Given the description of an element on the screen output the (x, y) to click on. 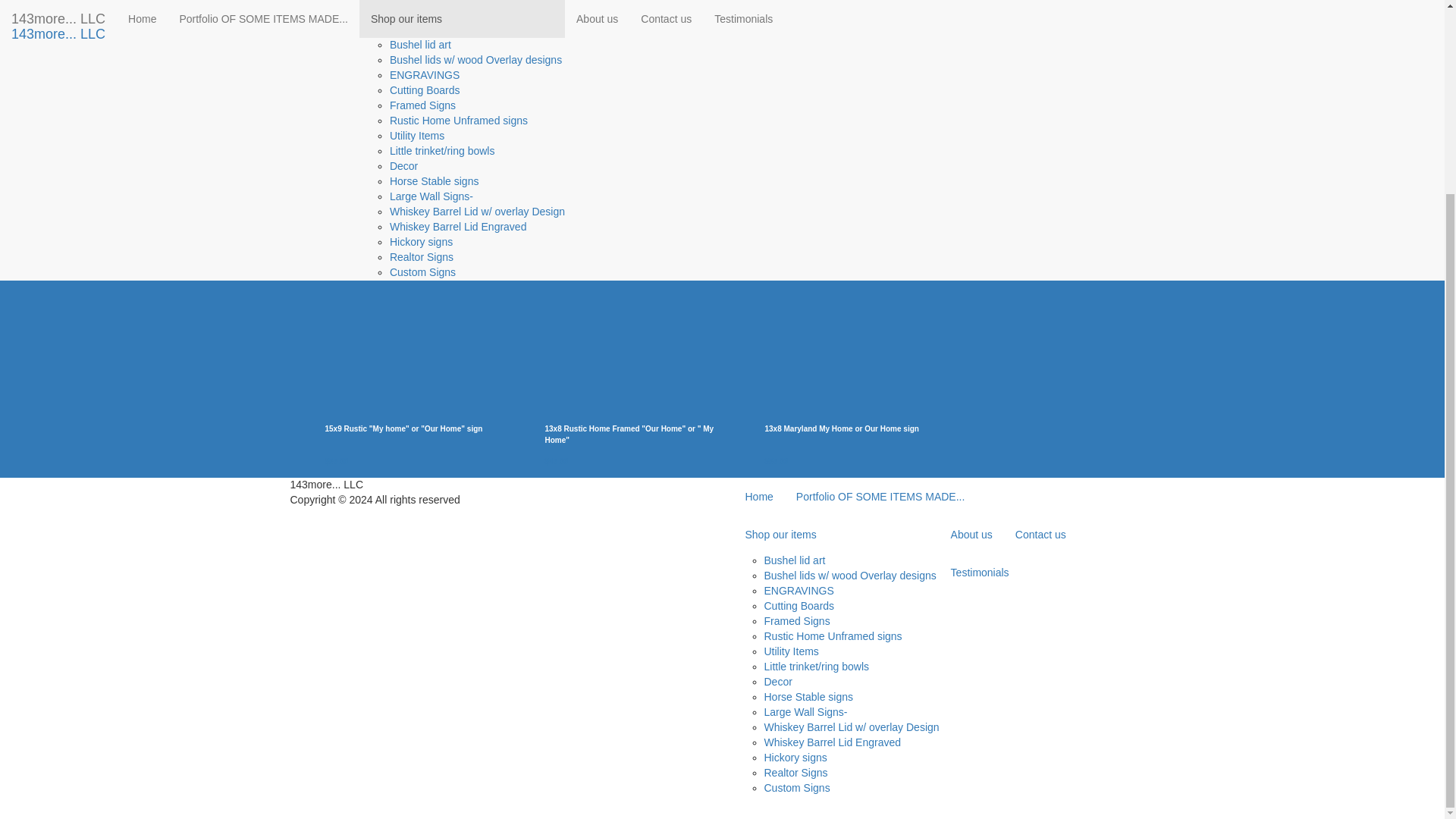
Custom Signs (422, 28)
Hickory signs (421, 2)
Realtor Signs (421, 12)
1 (780, 100)
